Given the description of an element on the screen output the (x, y) to click on. 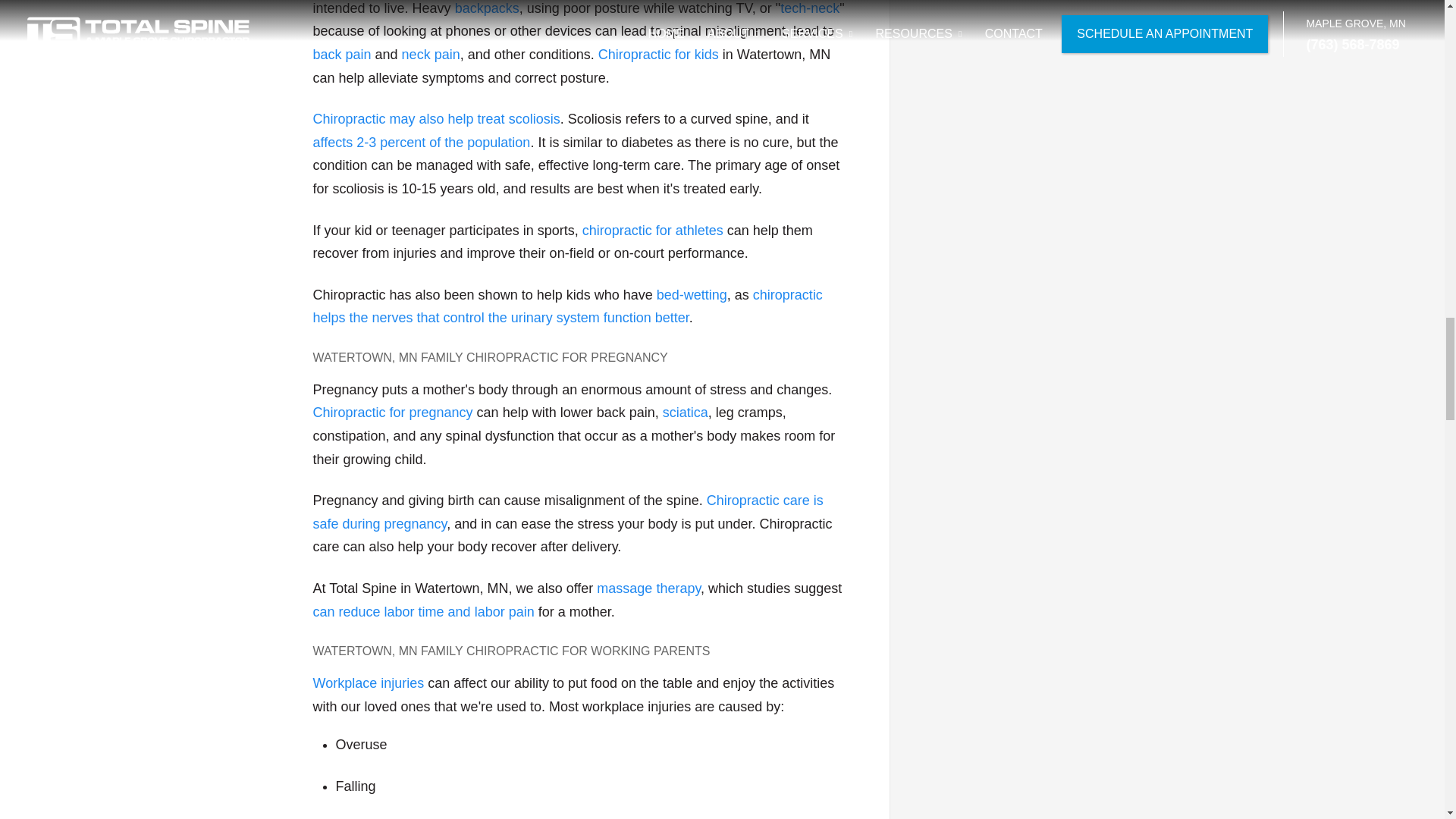
AANS (421, 142)
NCBI (423, 611)
back pain (342, 54)
backpacks (486, 7)
tech-neck (810, 7)
Chiropractic for kids (658, 54)
GoodNites (567, 306)
neck pain (430, 54)
WebMD (691, 294)
